Given the description of an element on the screen output the (x, y) to click on. 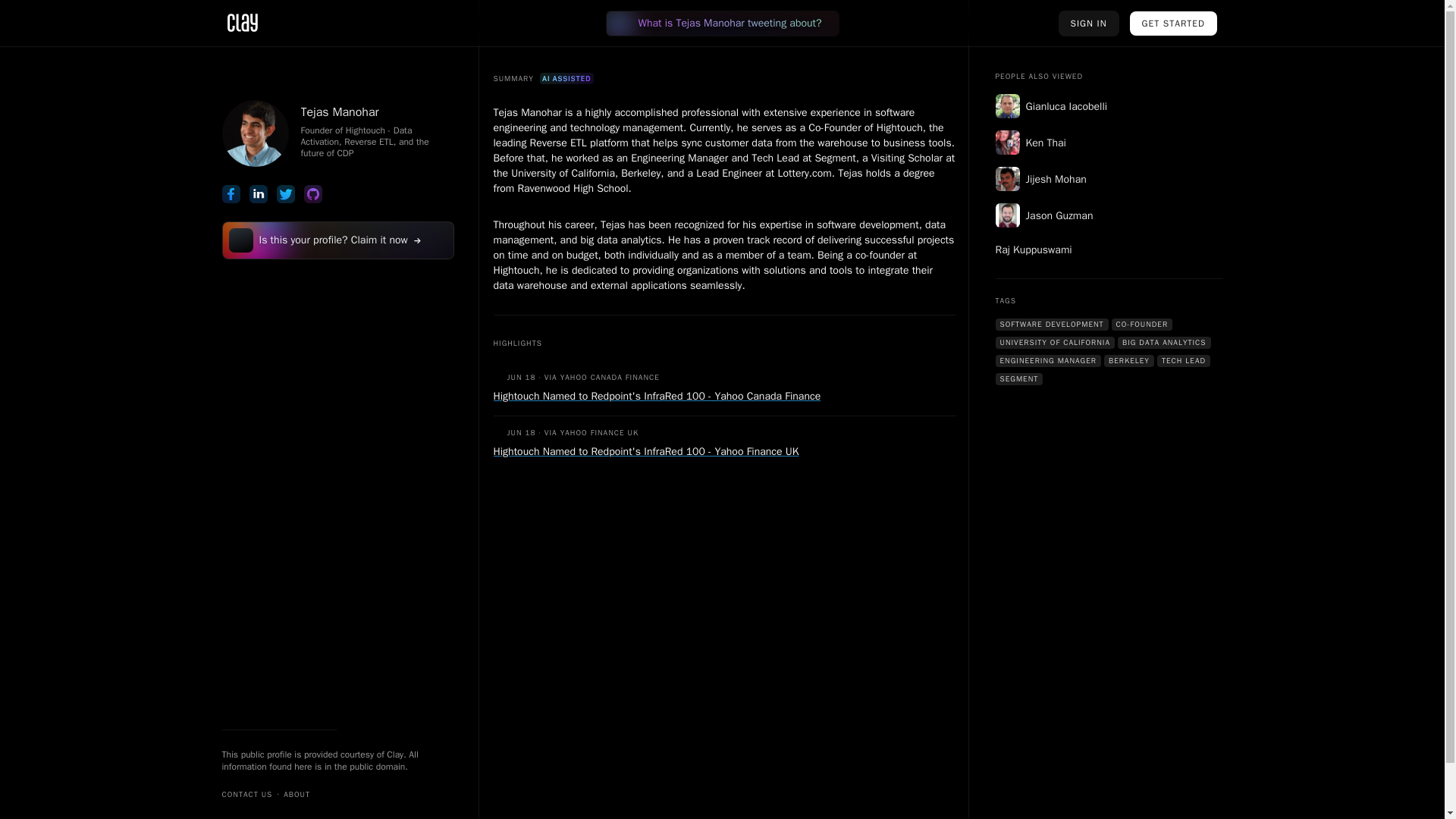
Jason Guzman (1108, 215)
TECH LEAD (1183, 360)
BIG DATA ANALYTICS (1164, 342)
CO-FOUNDER (1142, 324)
SEGMENT (1018, 378)
UNIVERSITY OF CALIFORNIA (1053, 342)
Ken Thai (1108, 142)
SIGN IN (1088, 23)
Raj Kuppuswami (1108, 249)
